Given the description of an element on the screen output the (x, y) to click on. 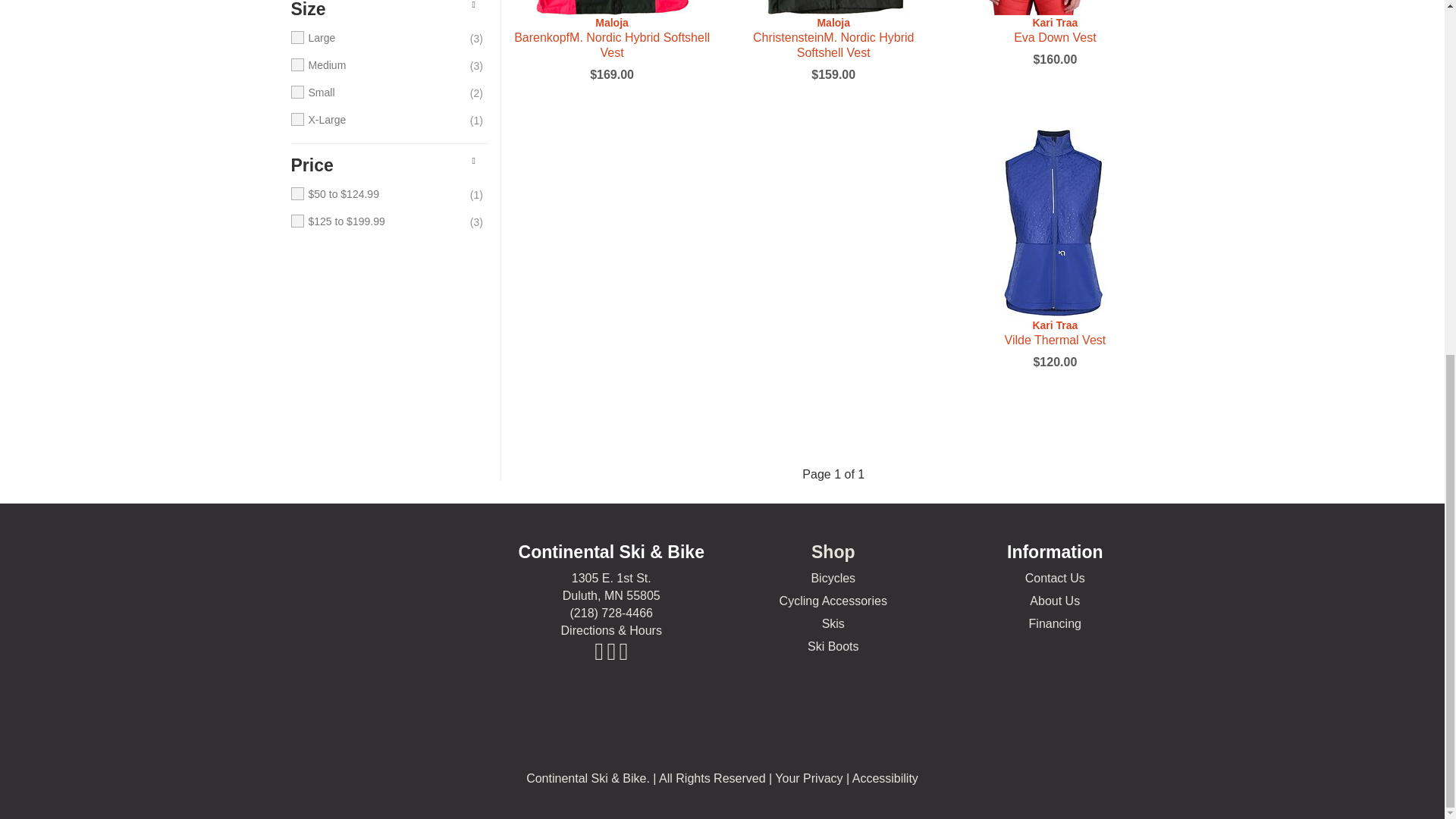
Kari Traa Eva Down Vest (1054, 7)
Kari Traa Eva Down Vest (1054, 30)
Maloja BarenkopfM. Nordic Hybrid Softshell Vest (611, 7)
Maloja BarenkopfM. Nordic Hybrid Softshell Vest (611, 37)
Maloja ChristensteinM. Nordic Hybrid Softshell Vest (833, 37)
Maloja ChristensteinM. Nordic Hybrid Softshell Vest (833, 7)
